Given the description of an element on the screen output the (x, y) to click on. 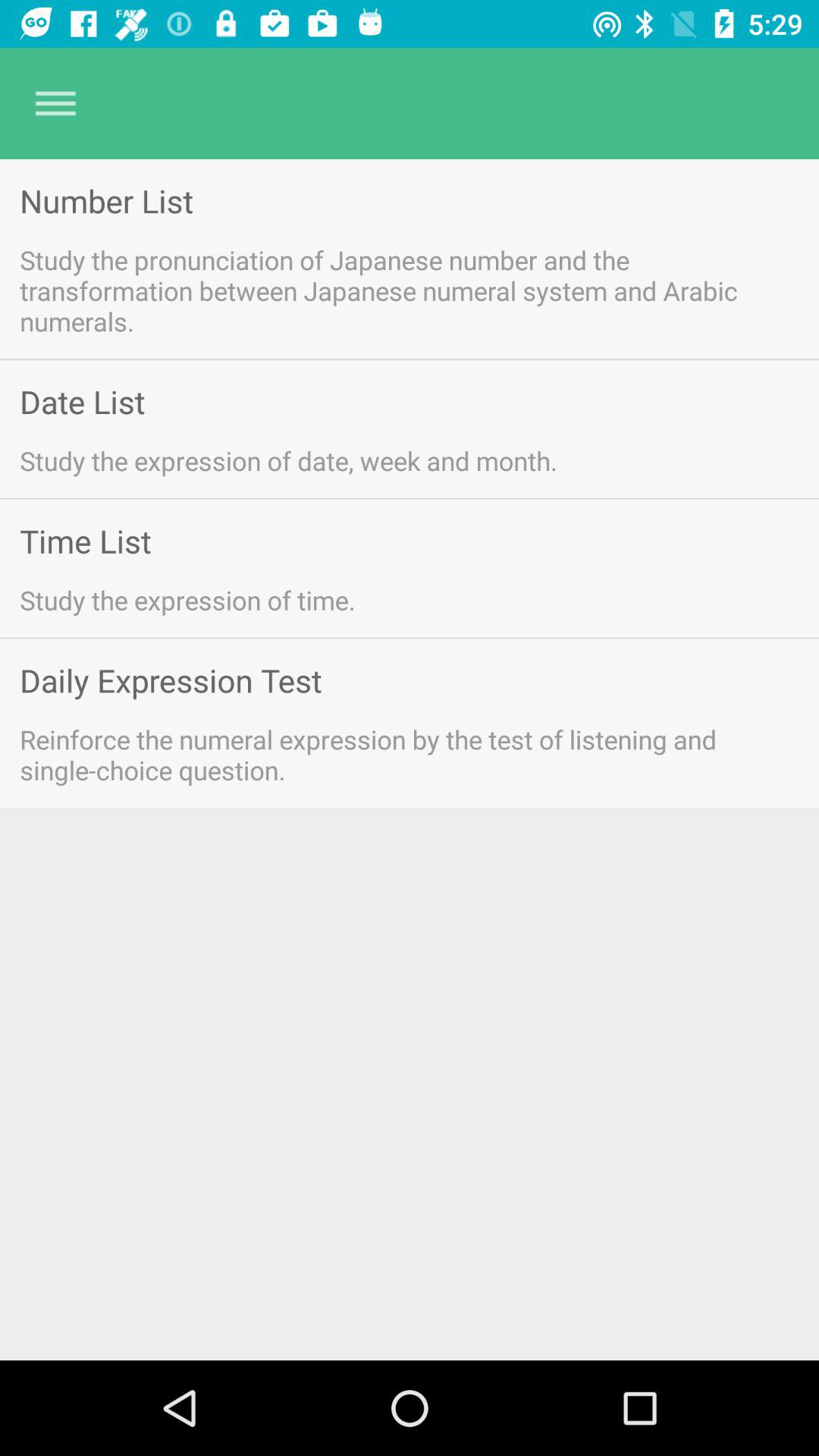
scroll until the number list item (106, 200)
